Given the description of an element on the screen output the (x, y) to click on. 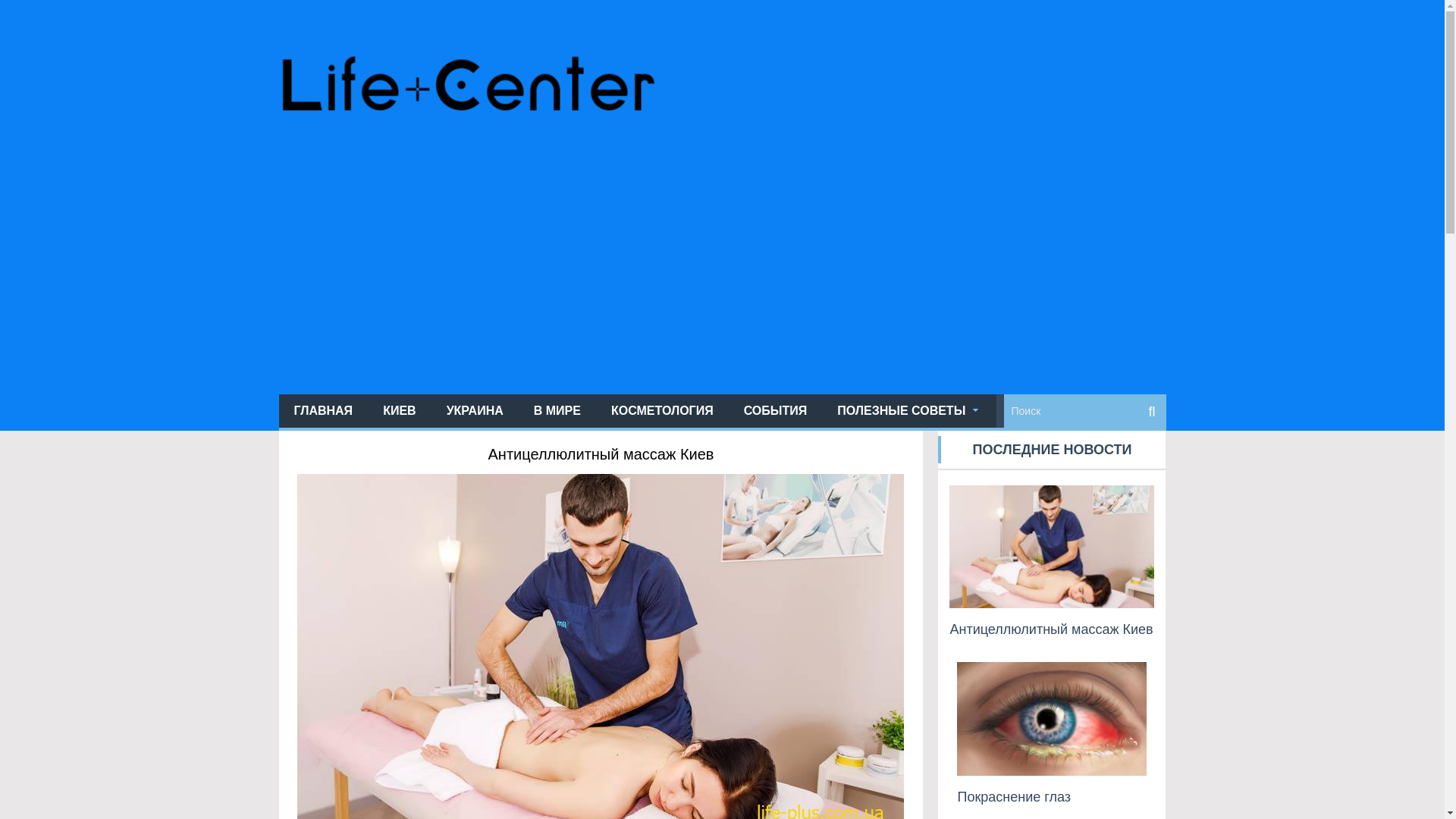
Advertisement Element type: hover (721, 272)
